Given the description of an element on the screen output the (x, y) to click on. 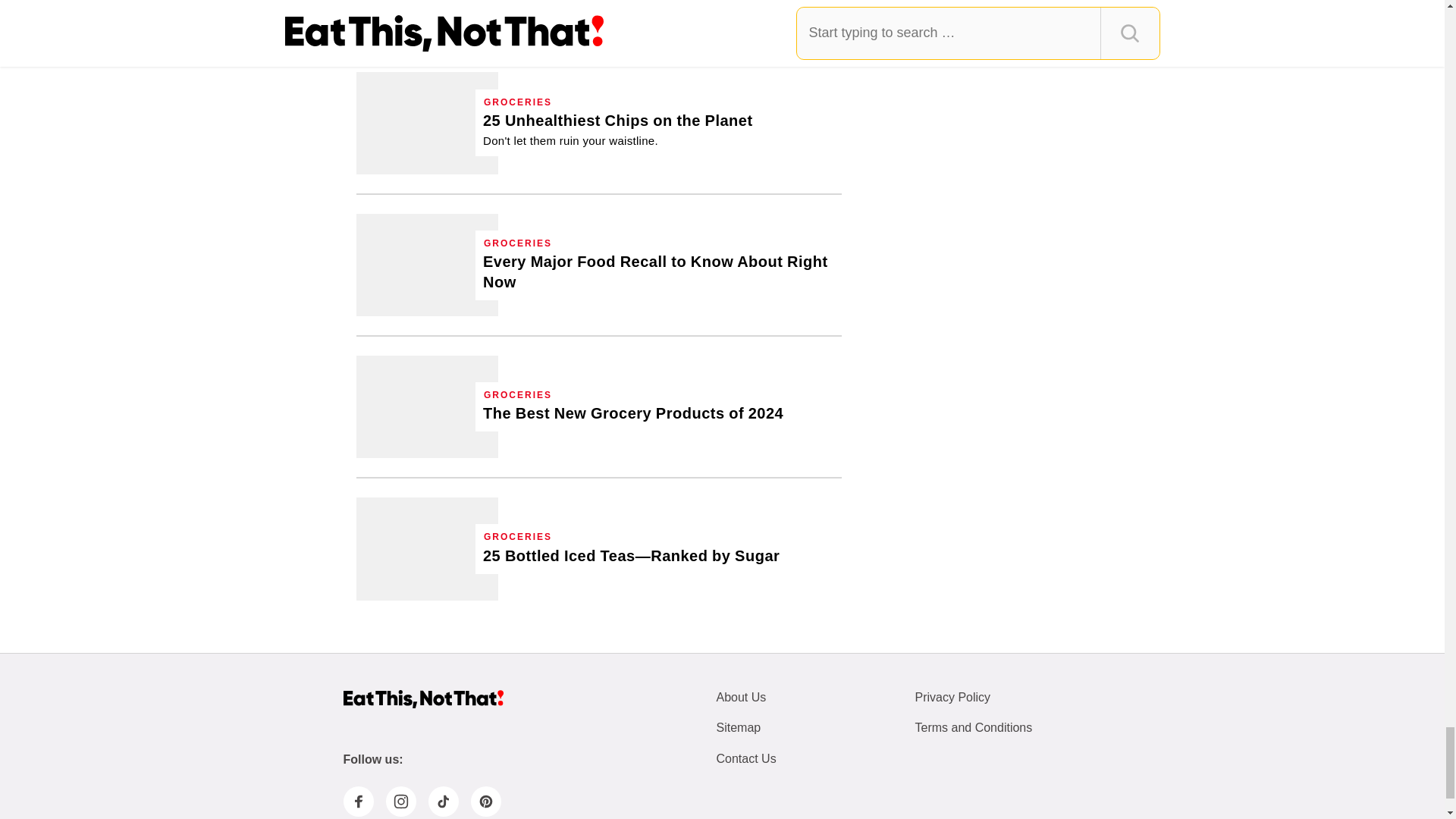
The Best New Grocery Products of 2024 (426, 406)
The Best New Grocery Products of 2024 (633, 413)
25 Unhealthiest Chips on the Planet (617, 129)
25 Unhealthiest Chips on the Planet (426, 123)
